Given the description of an element on the screen output the (x, y) to click on. 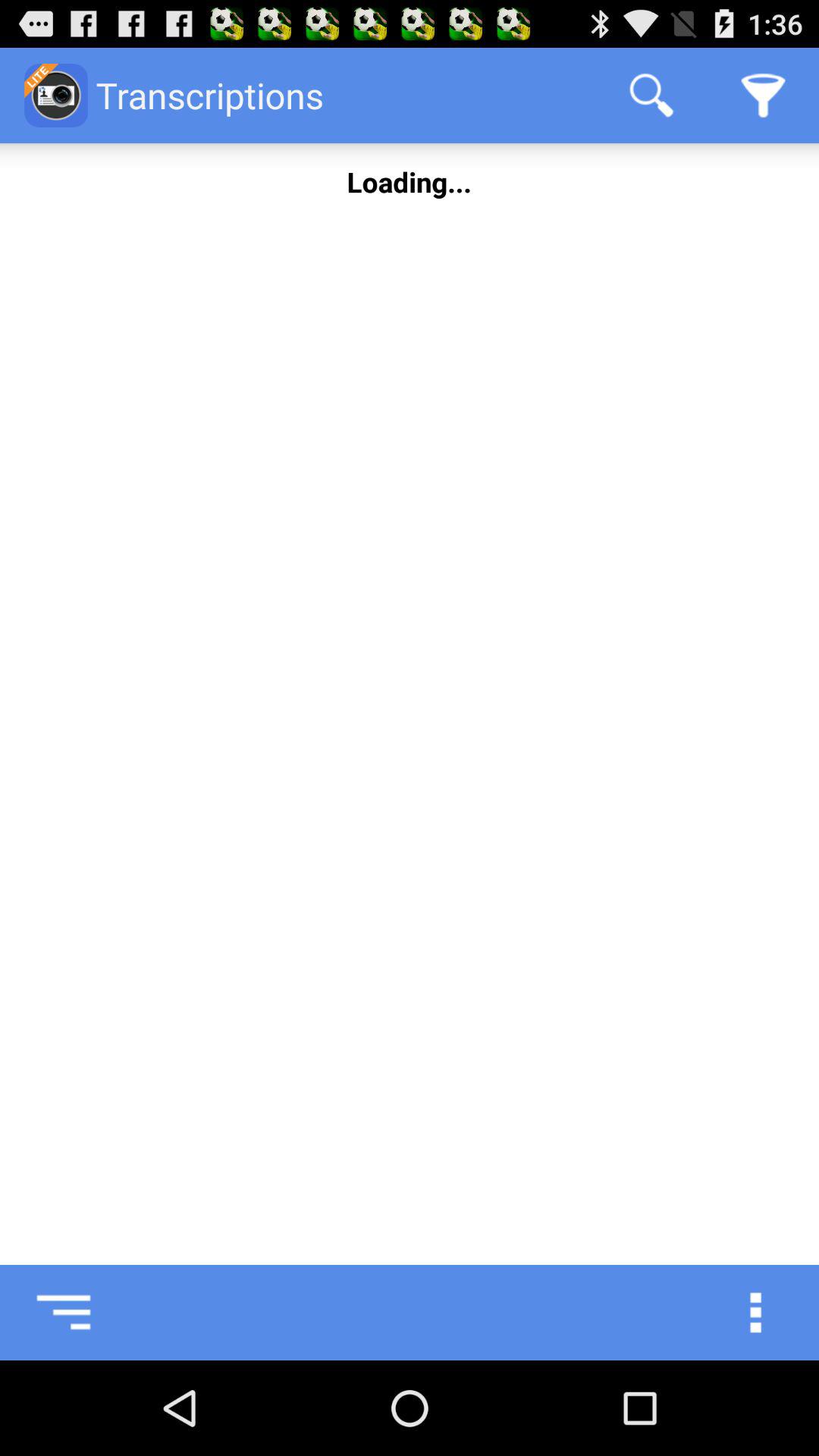
open icon next to transcriptions (651, 95)
